Given the description of an element on the screen output the (x, y) to click on. 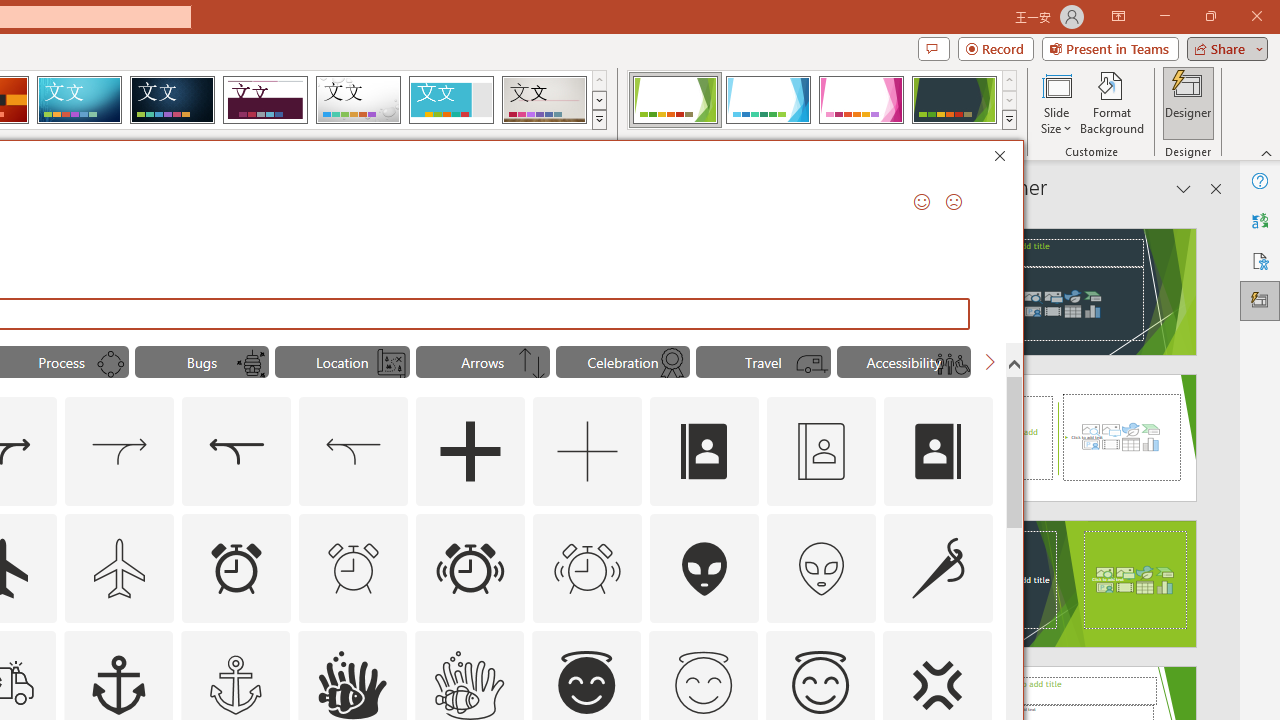
"Travel" Icons. (763, 362)
"Bugs" Icons. (201, 362)
Damask (171, 100)
AutomationID: Icons_AlarmRinging (470, 568)
Circuit (79, 100)
